Given the description of an element on the screen output the (x, y) to click on. 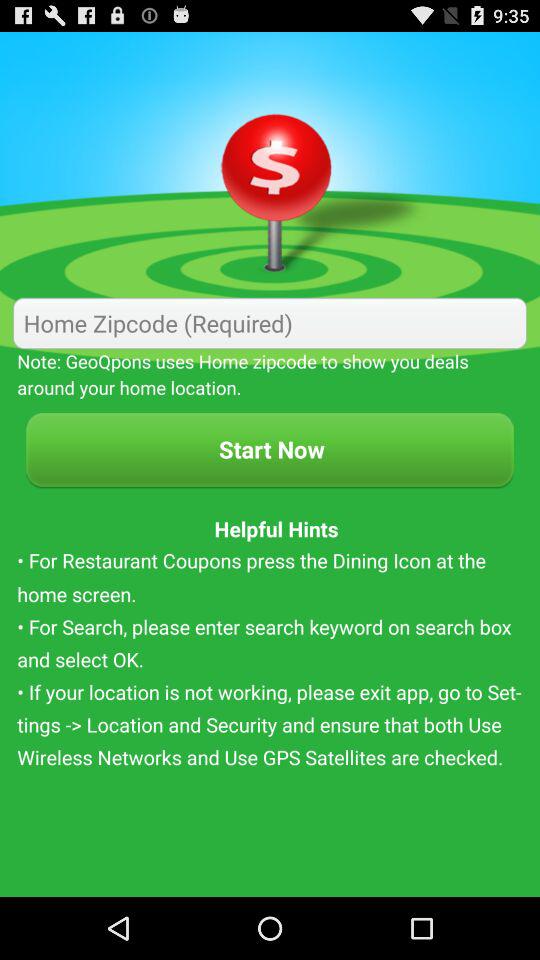
input information (269, 322)
